Given the description of an element on the screen output the (x, y) to click on. 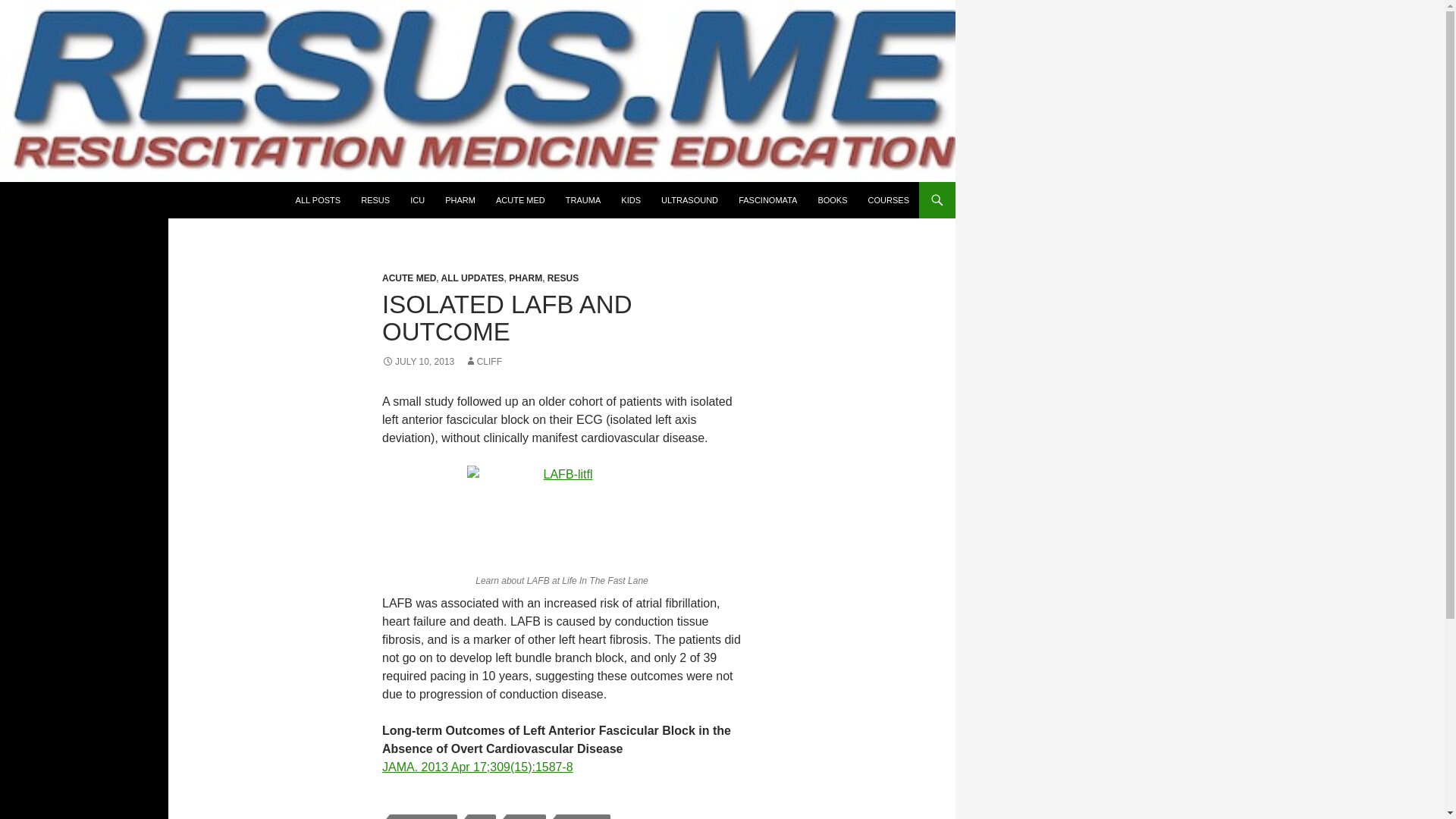
ECG (481, 816)
JULY 10, 2013 (417, 361)
ULTRASOUND (689, 199)
CLIFF (483, 361)
ALL UPDATES (472, 277)
ACUTE MED (520, 199)
OUTCOME (583, 816)
BOOKS (832, 199)
ACUTE MED (408, 277)
TRAUMA (583, 199)
CARDIOLOGY (423, 816)
ICU (417, 199)
RESUS (562, 277)
